Given the description of an element on the screen output the (x, y) to click on. 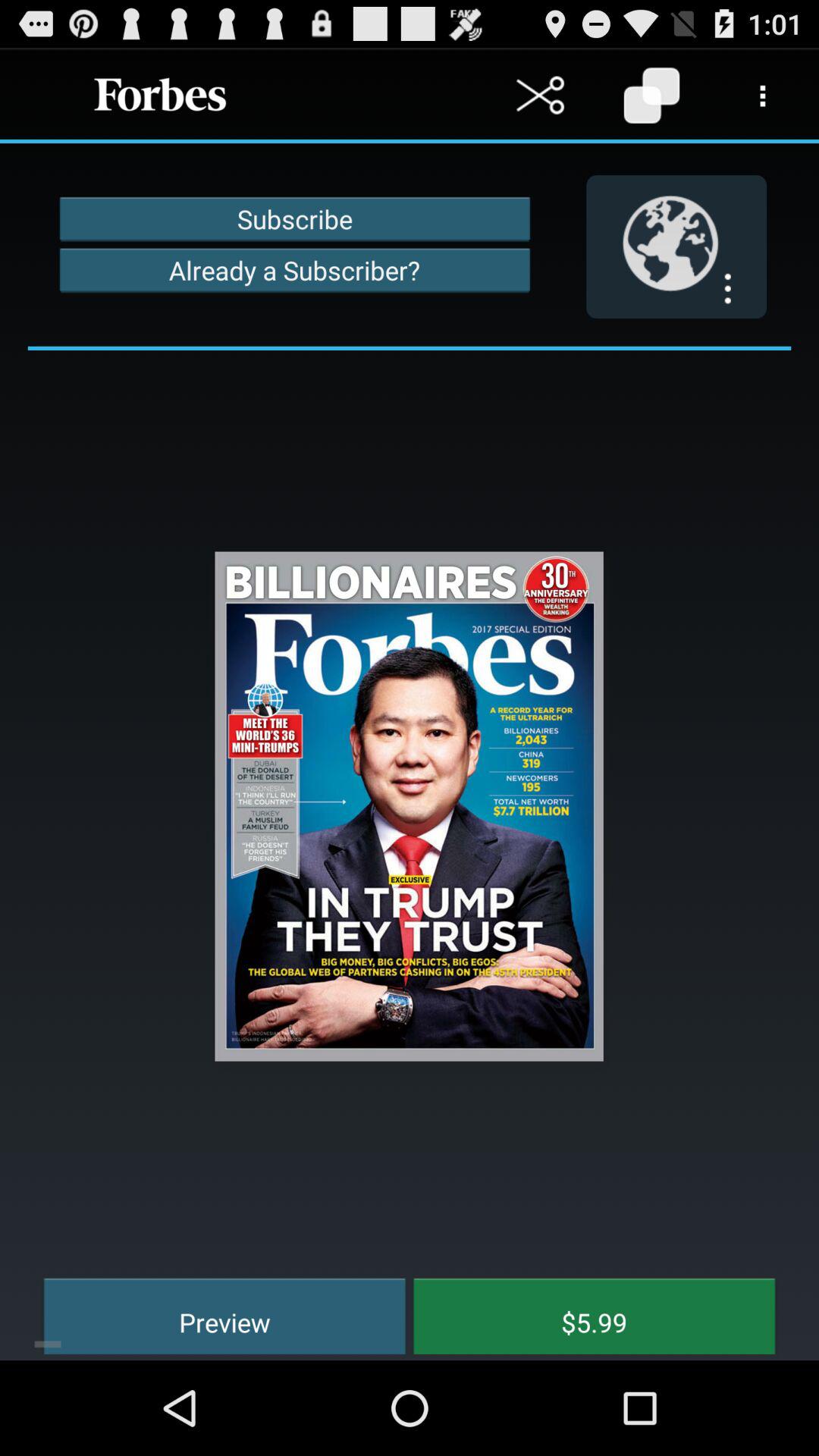
click preview at the bottom left corner (213, 1314)
